Given the description of an element on the screen output the (x, y) to click on. 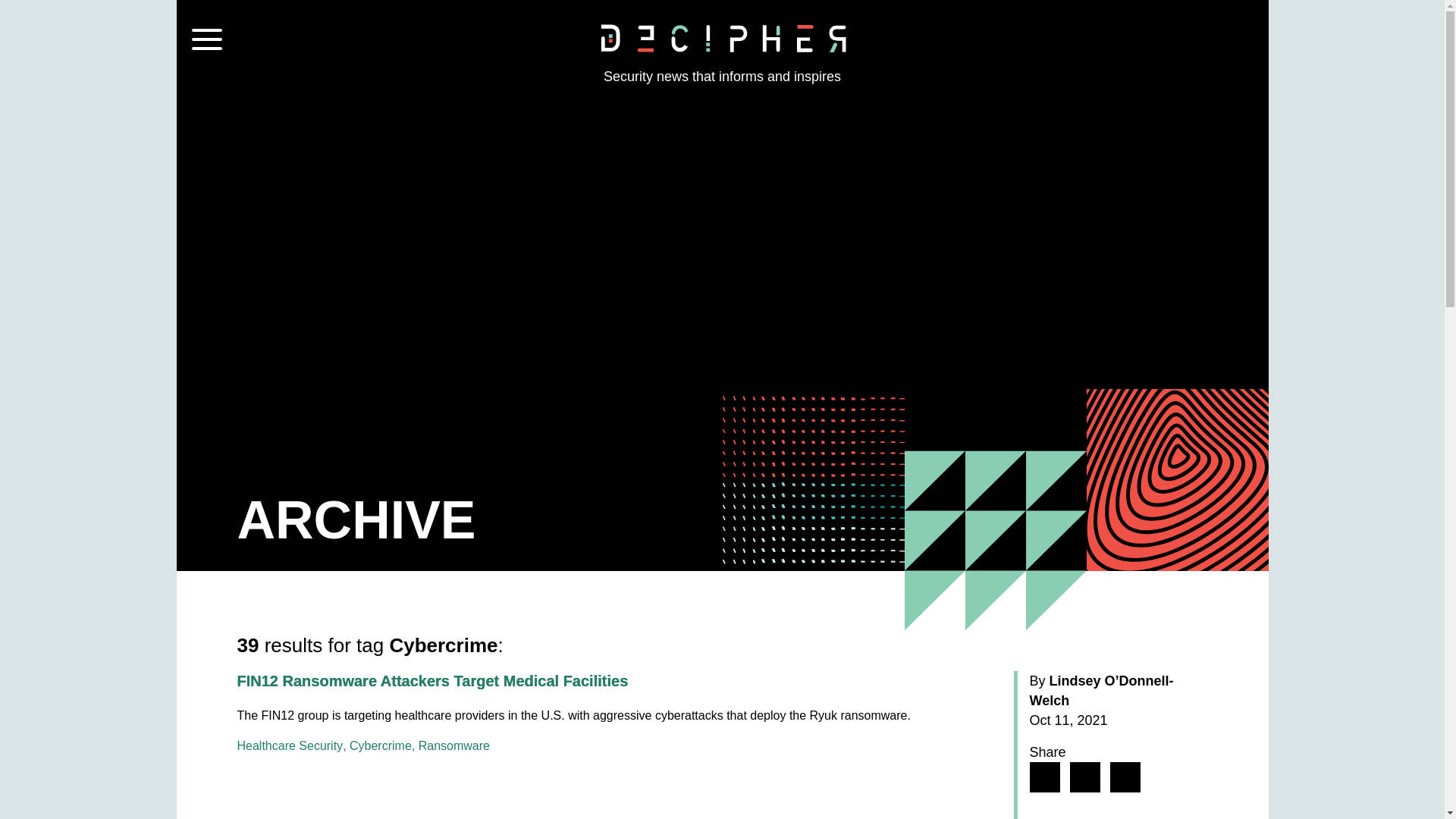
Cybercrime (380, 745)
FIN12 Ransomware Attackers Target Medical Facilities (431, 680)
Ransomware (454, 745)
Healthcare Security (288, 745)
